Given the description of an element on the screen output the (x, y) to click on. 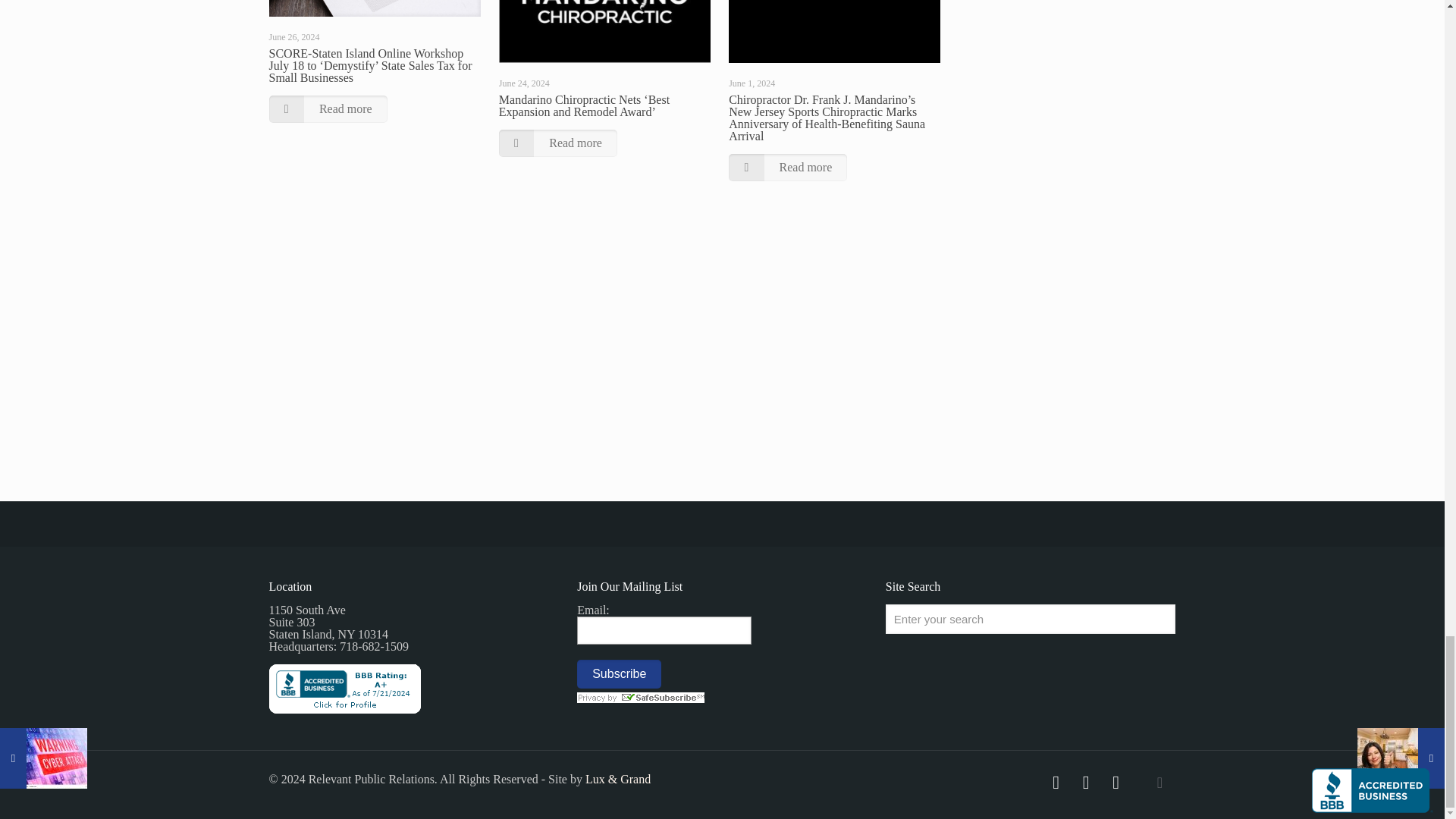
LinkedIn (1116, 784)
Twitter (1086, 784)
Subscribe (618, 674)
Facebook (1055, 784)
